Given the description of an element on the screen output the (x, y) to click on. 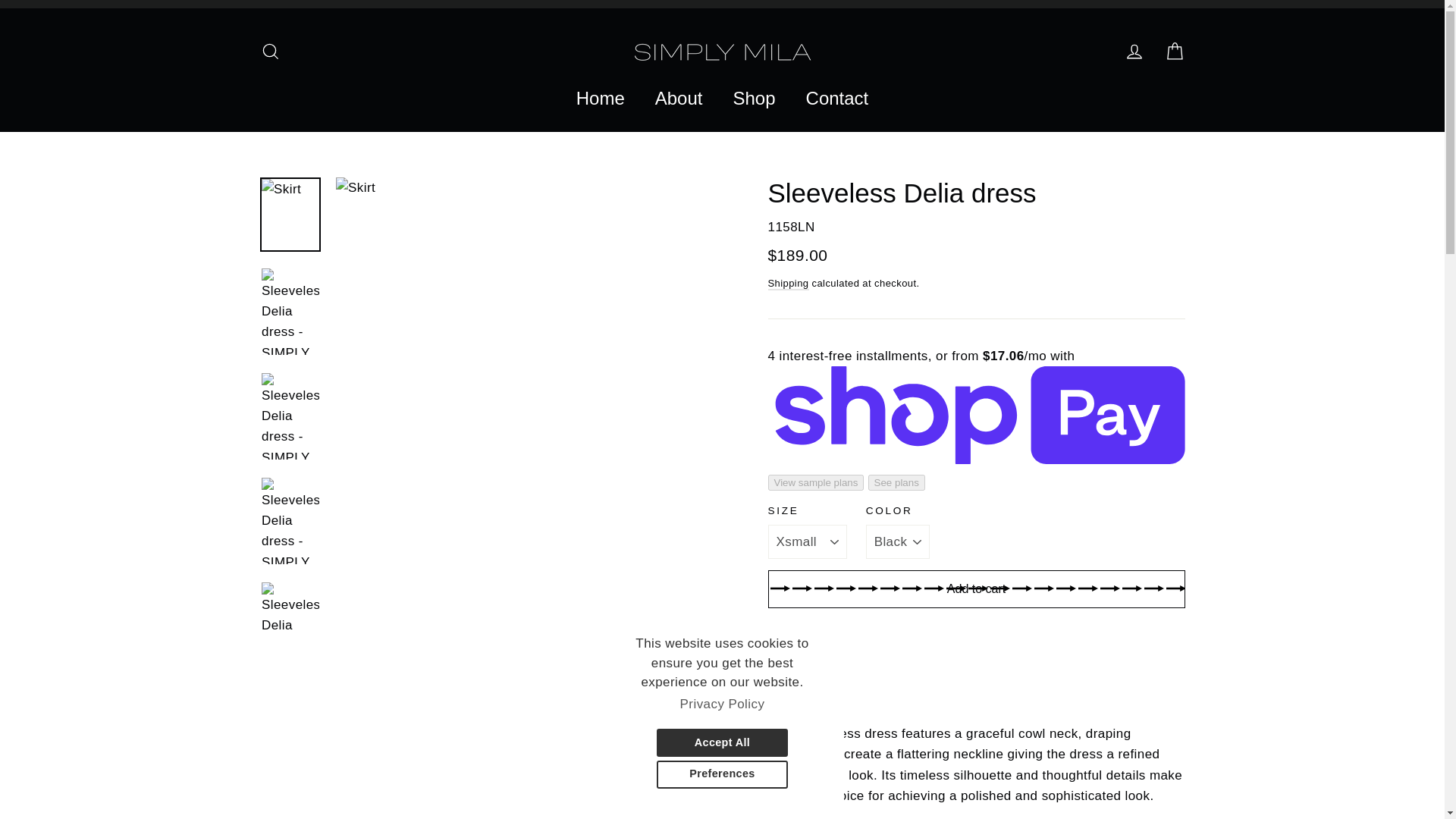
Search (269, 51)
About (678, 98)
Home (600, 98)
Add to cart (976, 589)
Shipping (787, 283)
Cart (1173, 51)
Contact (836, 98)
Shop (753, 98)
Log in (1134, 51)
